Given the description of an element on the screen output the (x, y) to click on. 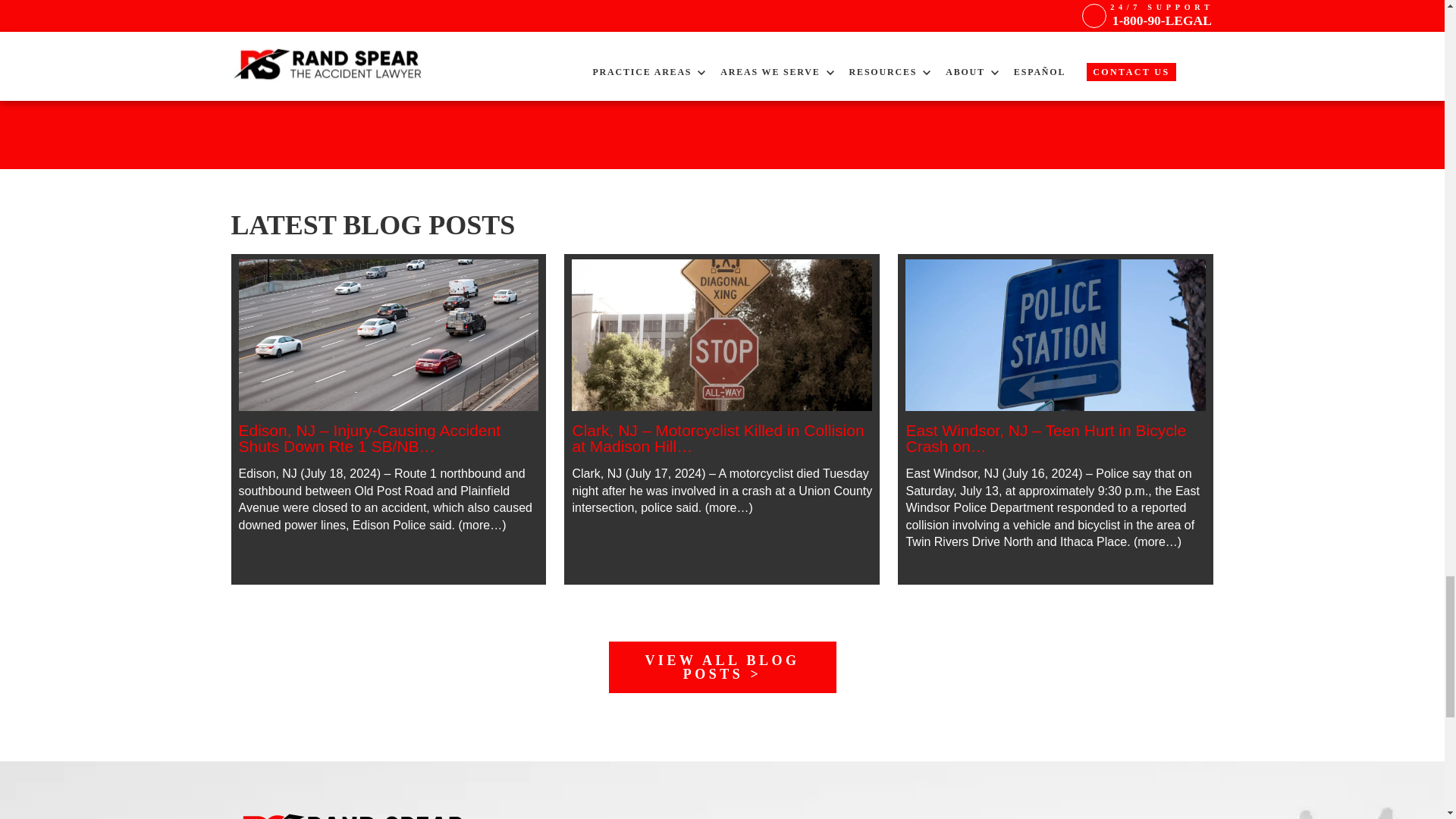
READ MORE (388, 438)
READ MORE (388, 335)
